Given the description of an element on the screen output the (x, y) to click on. 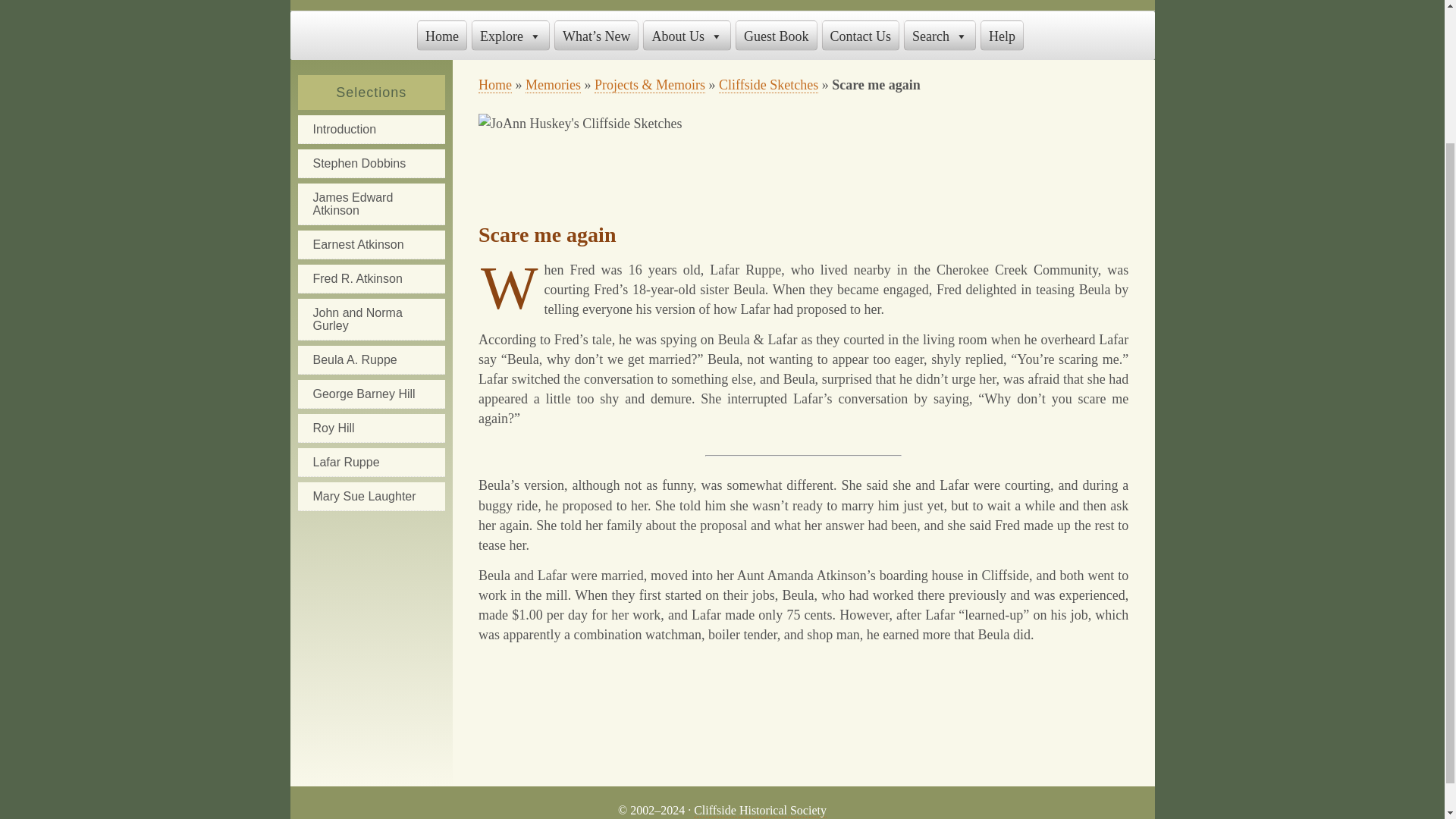
Introduction (370, 129)
Help (1001, 35)
Contact Us (860, 35)
Home (495, 84)
James Edward Atkinson (370, 204)
Search (939, 35)
Stephen Dobbins (370, 163)
About Us (686, 35)
Cliffside Sketches (768, 84)
Guest Book (775, 35)
